Given the description of an element on the screen output the (x, y) to click on. 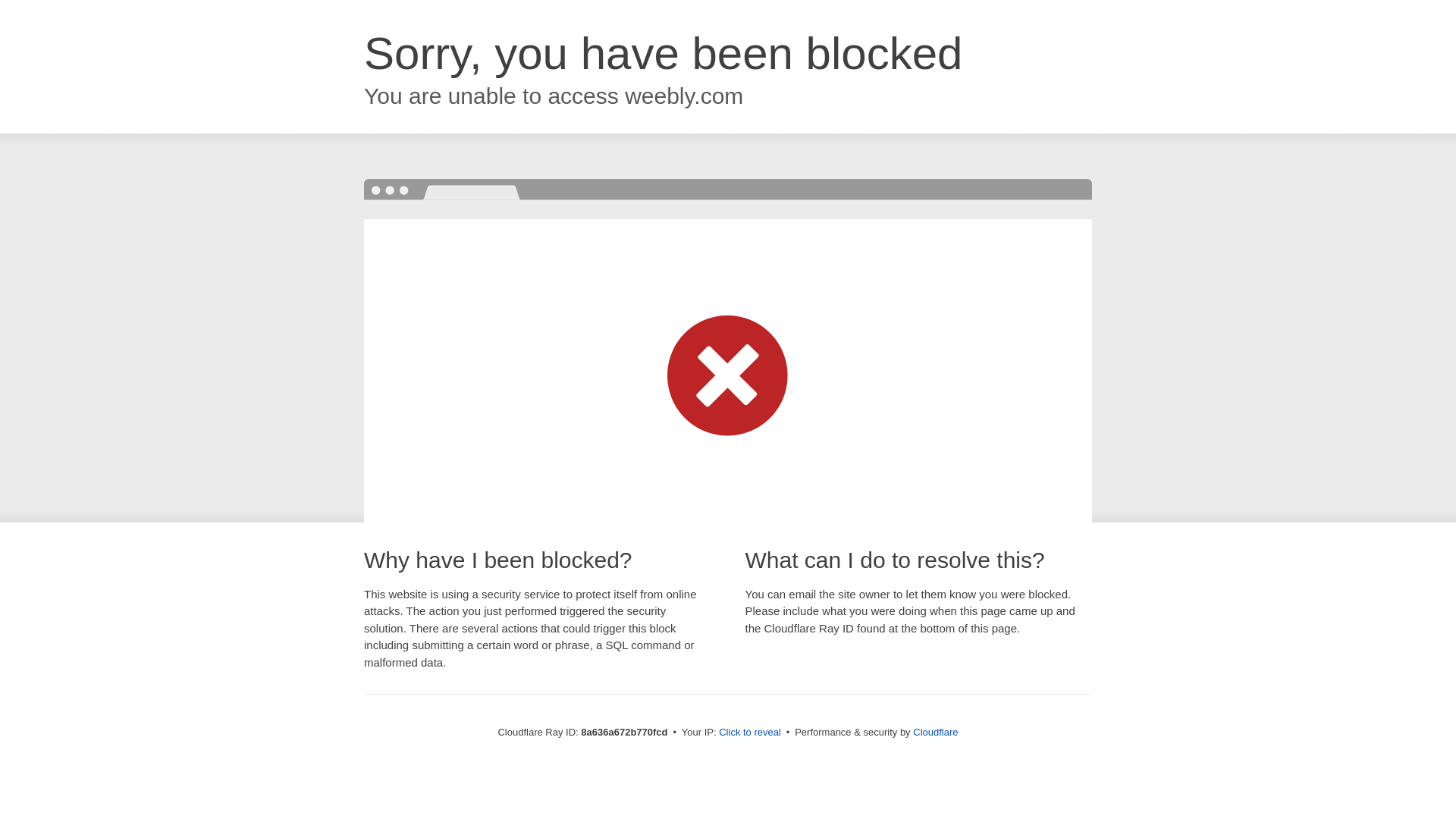
Click to reveal (749, 732)
Cloudflare (935, 731)
